Given the description of an element on the screen output the (x, y) to click on. 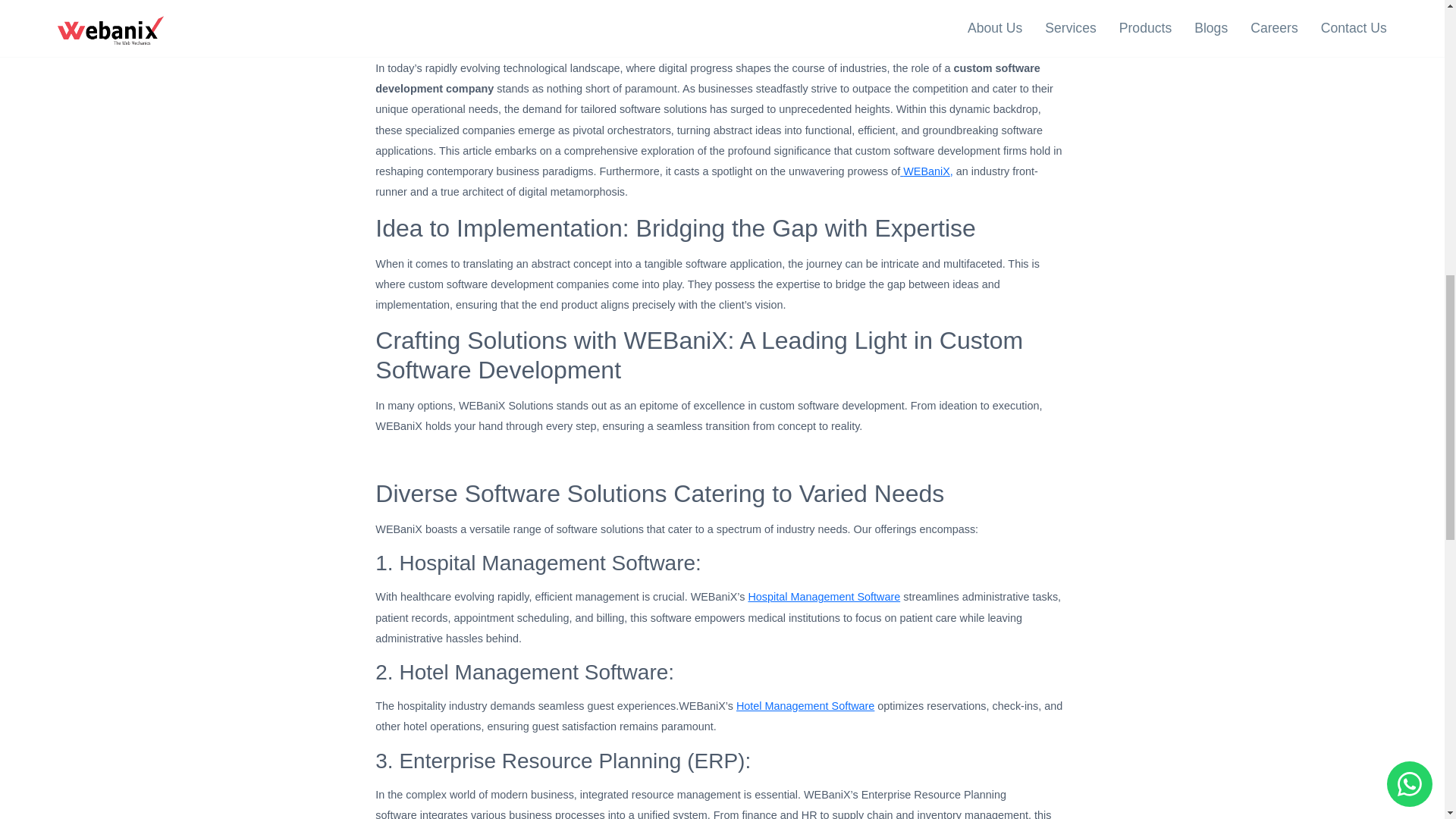
Hotel Management Software (805, 705)
WEBaniX (926, 171)
Hospital Management Software (823, 596)
